Given the description of an element on the screen output the (x, y) to click on. 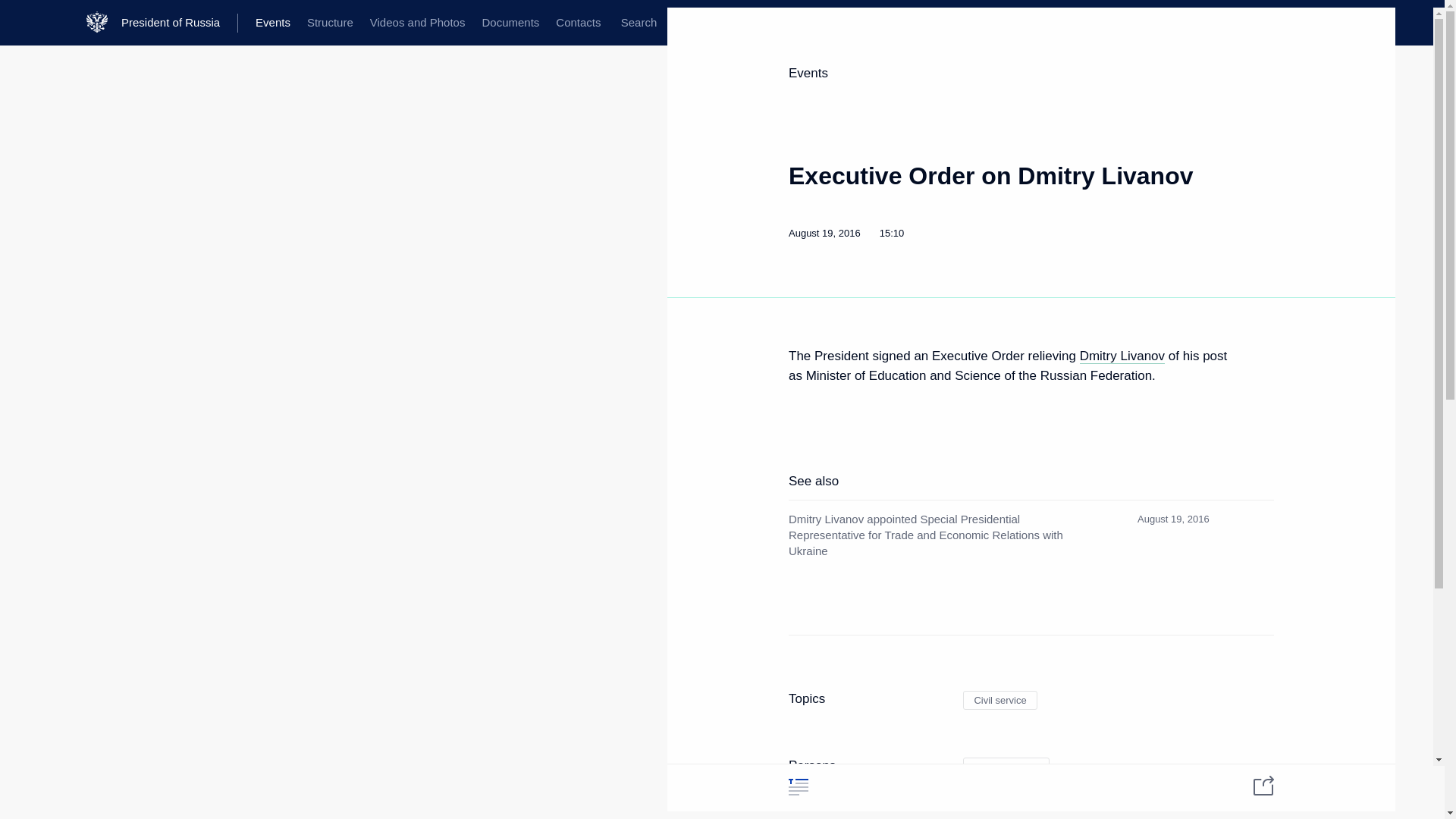
Global website search (638, 22)
President of Russia (179, 22)
Structure (329, 22)
Search (638, 22)
Contacts (577, 22)
Portal Menu (24, 22)
Videos and Photos (417, 22)
Share (1253, 784)
Documents (510, 22)
